Given the description of an element on the screen output the (x, y) to click on. 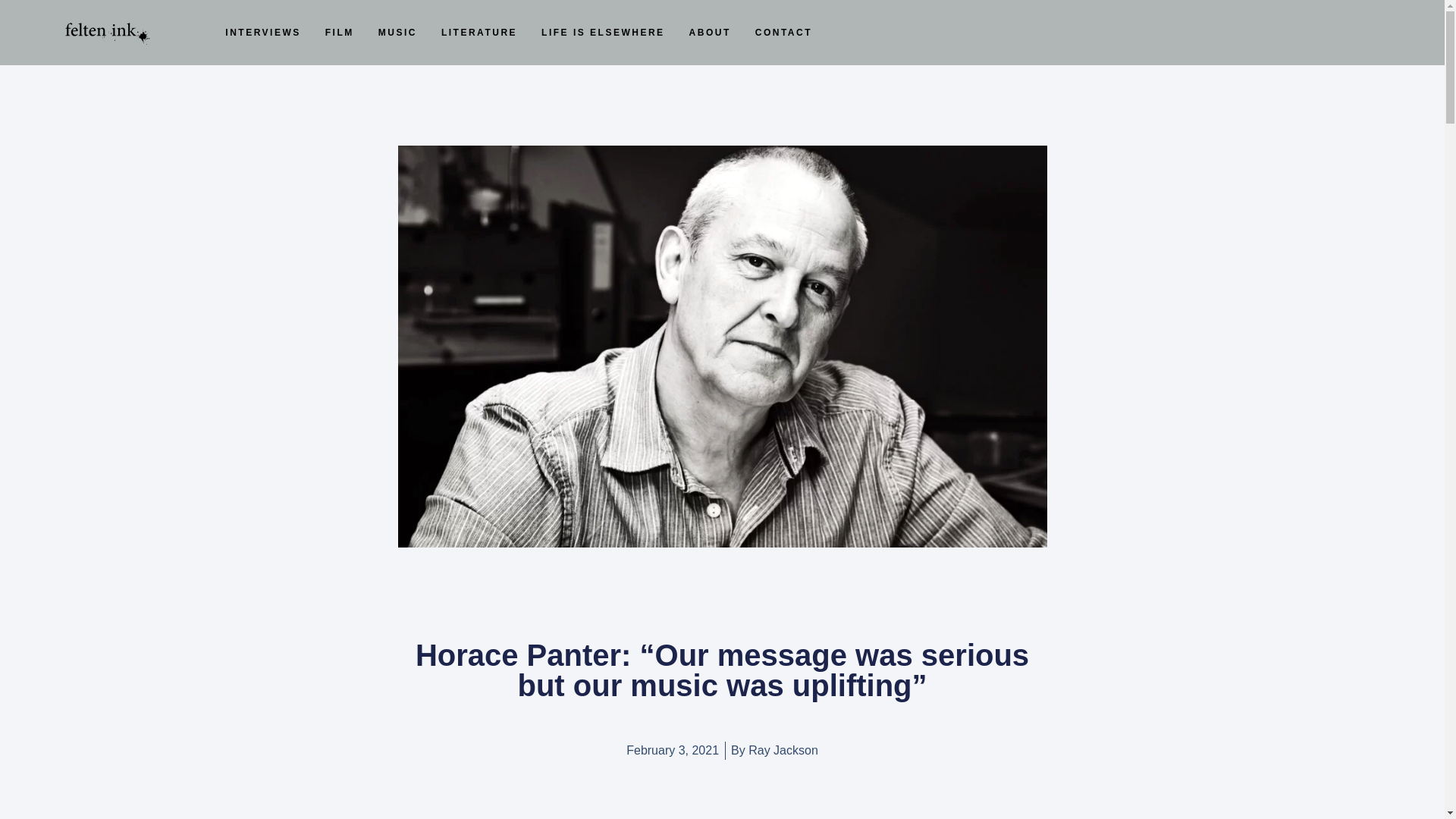
FILM (338, 32)
ABOUT (709, 32)
LIFE IS ELSEWHERE (603, 32)
CONTACT (783, 32)
MUSIC (397, 32)
INTERVIEWS (262, 32)
LITERATURE (478, 32)
